Given the description of an element on the screen output the (x, y) to click on. 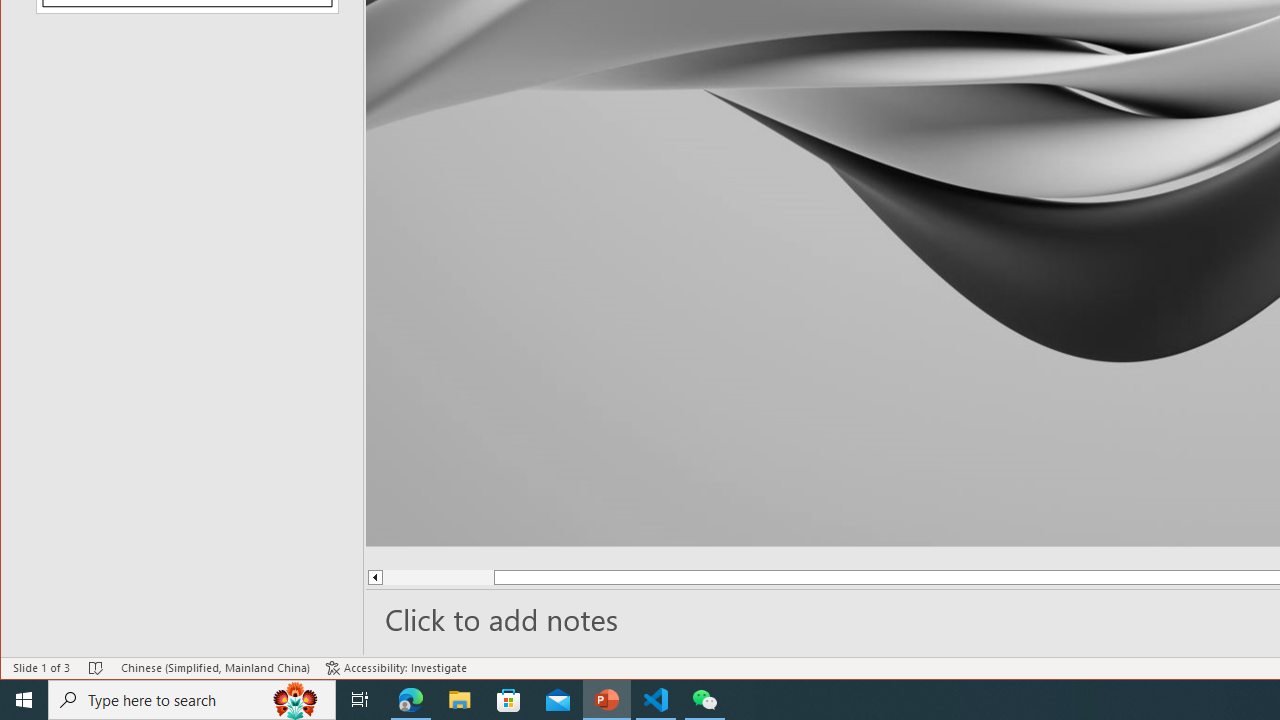
WeChat - 1 running window (704, 699)
